Given the description of an element on the screen output the (x, y) to click on. 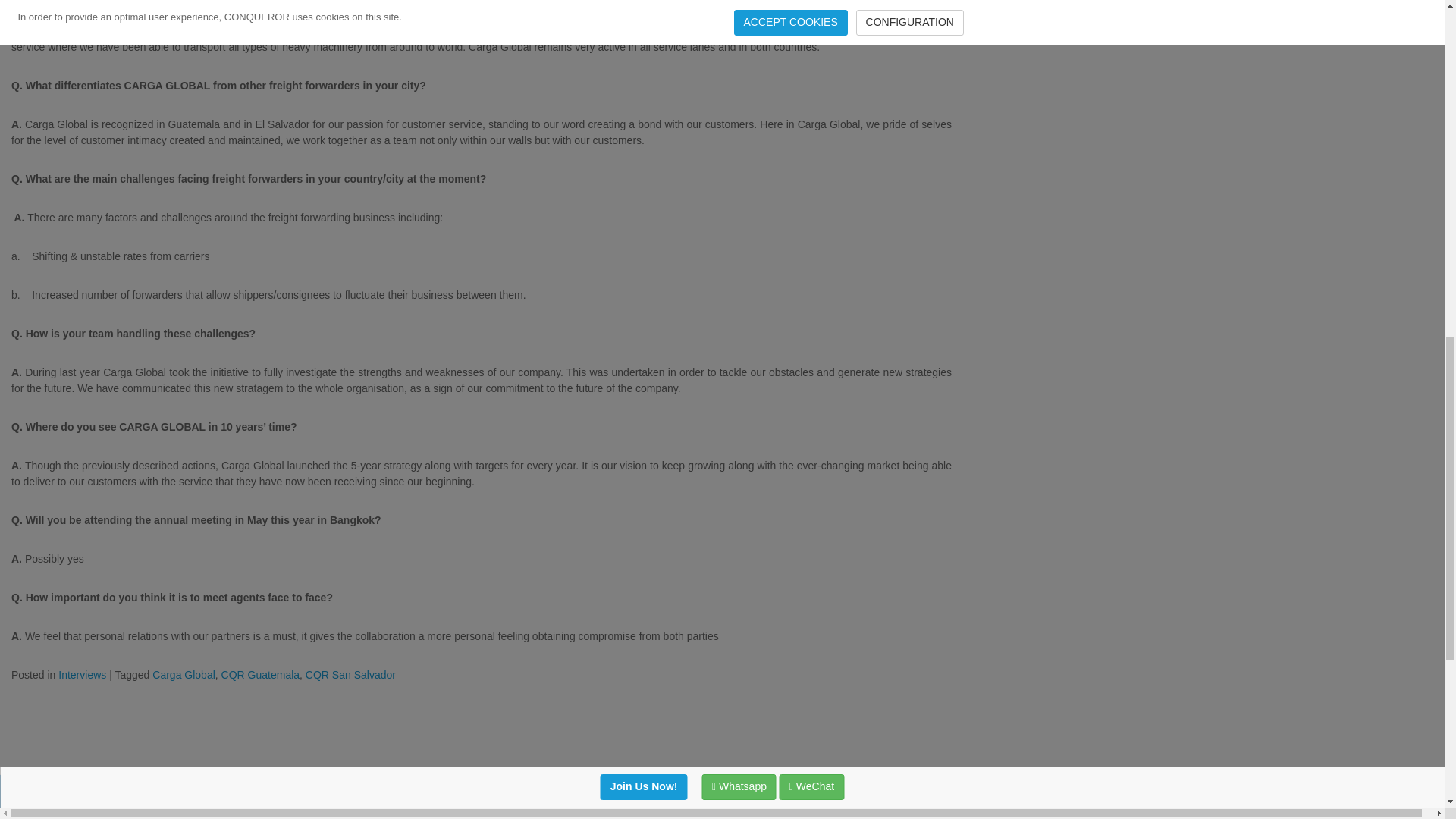
CQR San Salvador (350, 674)
Interviews (82, 674)
Carga Global (183, 674)
CQR Guatemala (260, 674)
